Given the description of an element on the screen output the (x, y) to click on. 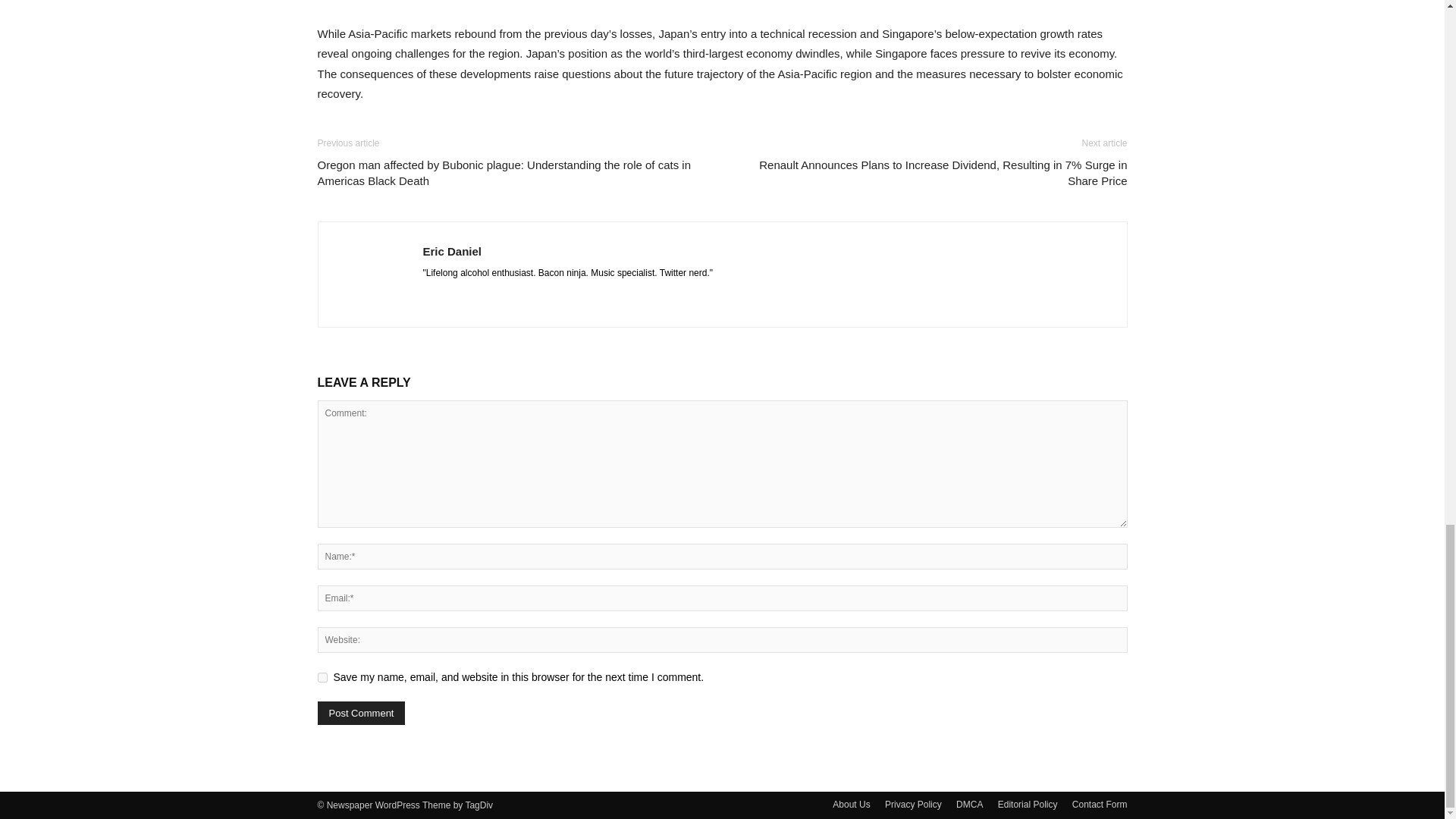
Post Comment (360, 712)
Contact Form (1098, 804)
yes (321, 677)
Eric Daniel (452, 250)
Privacy Policy (913, 804)
DMCA (969, 804)
Post Comment (360, 712)
About Us (850, 804)
Editorial Policy (1027, 804)
